Given the description of an element on the screen output the (x, y) to click on. 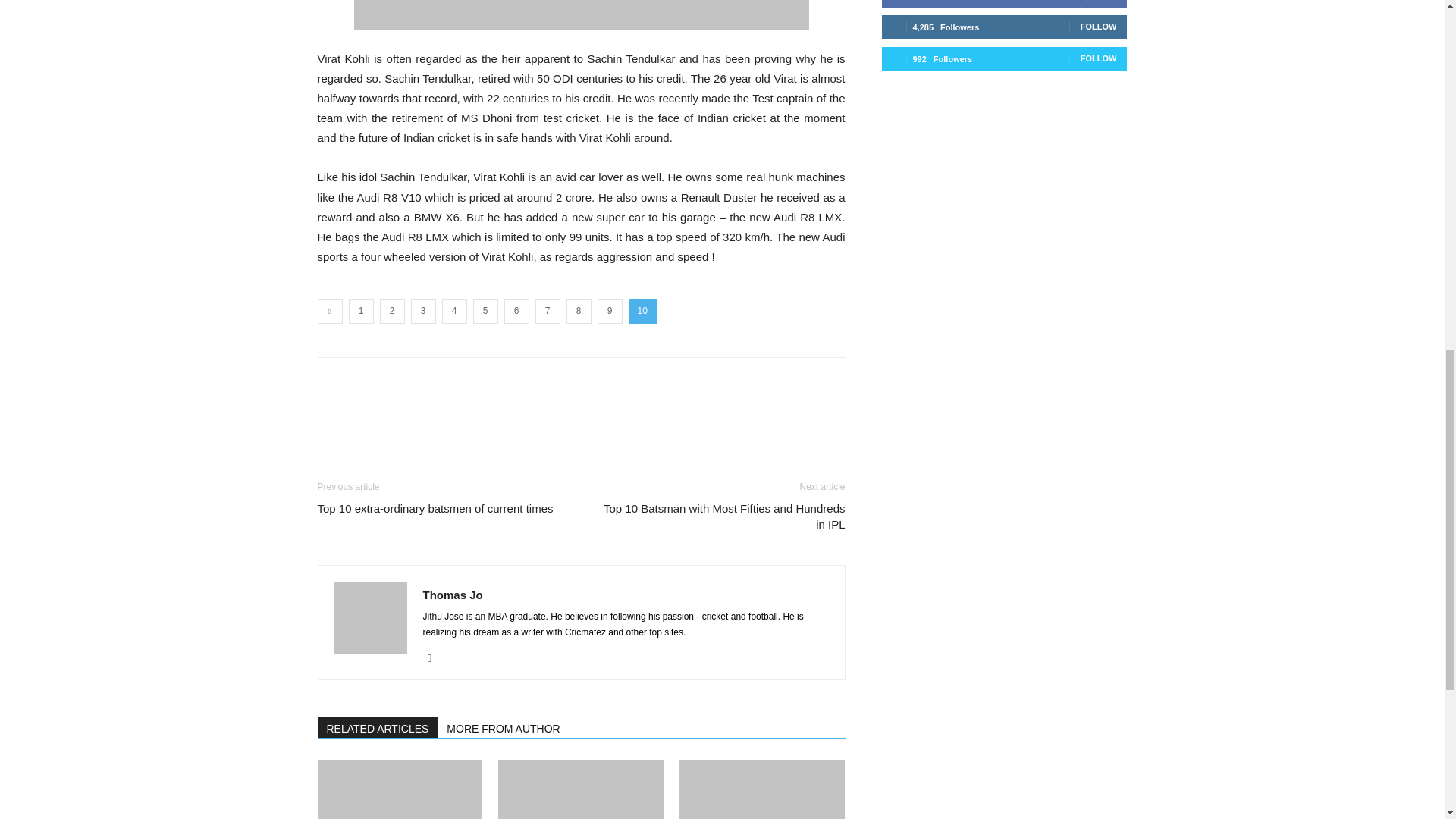
1 (361, 310)
2 (391, 310)
bottomFacebookLike (430, 381)
3 (422, 310)
4 (453, 310)
